Given the description of an element on the screen output the (x, y) to click on. 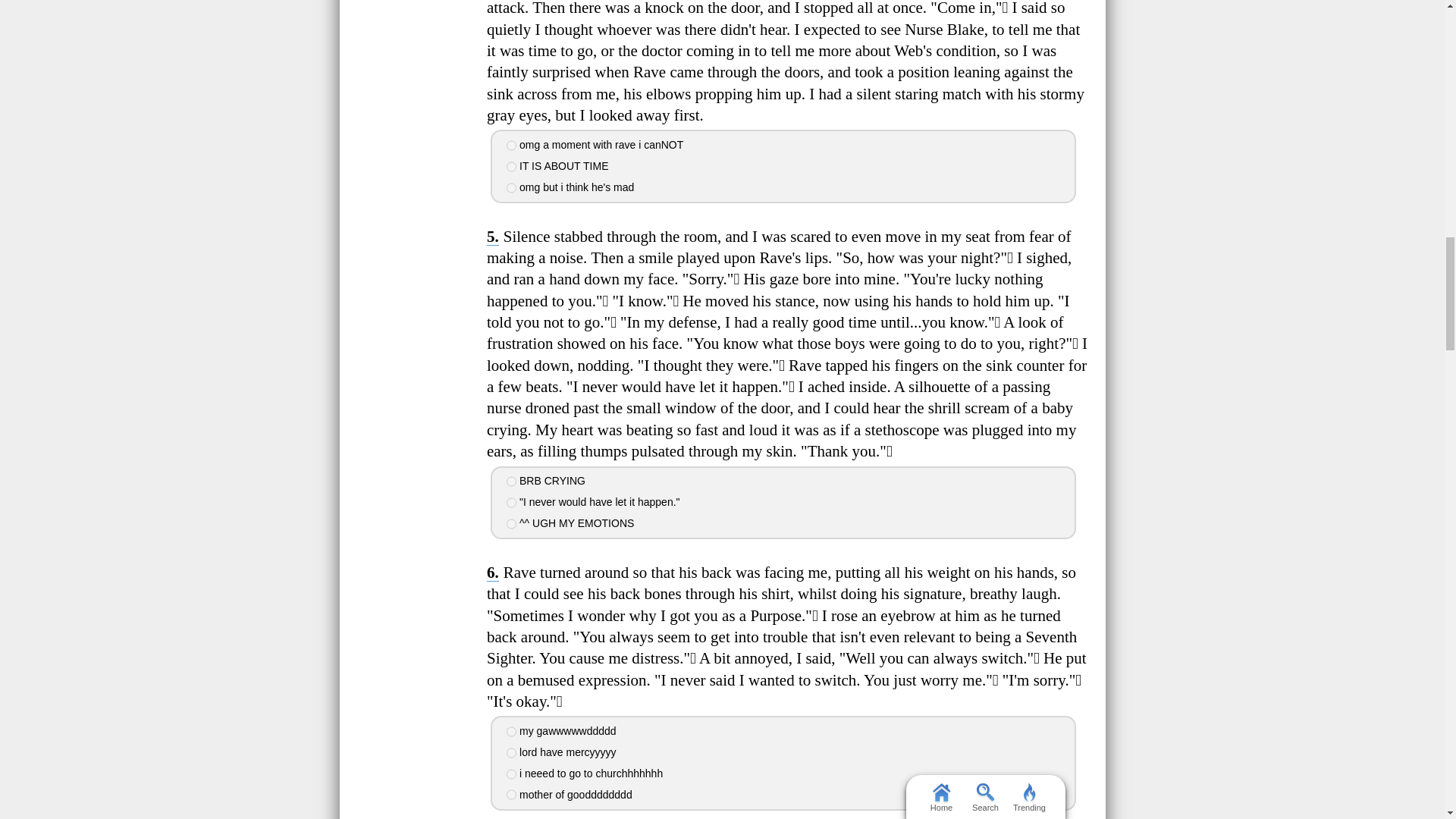
1 (511, 731)
2 (511, 502)
3 (511, 187)
3 (511, 523)
1 (511, 145)
2 (511, 166)
1 (511, 480)
2 (511, 752)
